Given the description of an element on the screen output the (x, y) to click on. 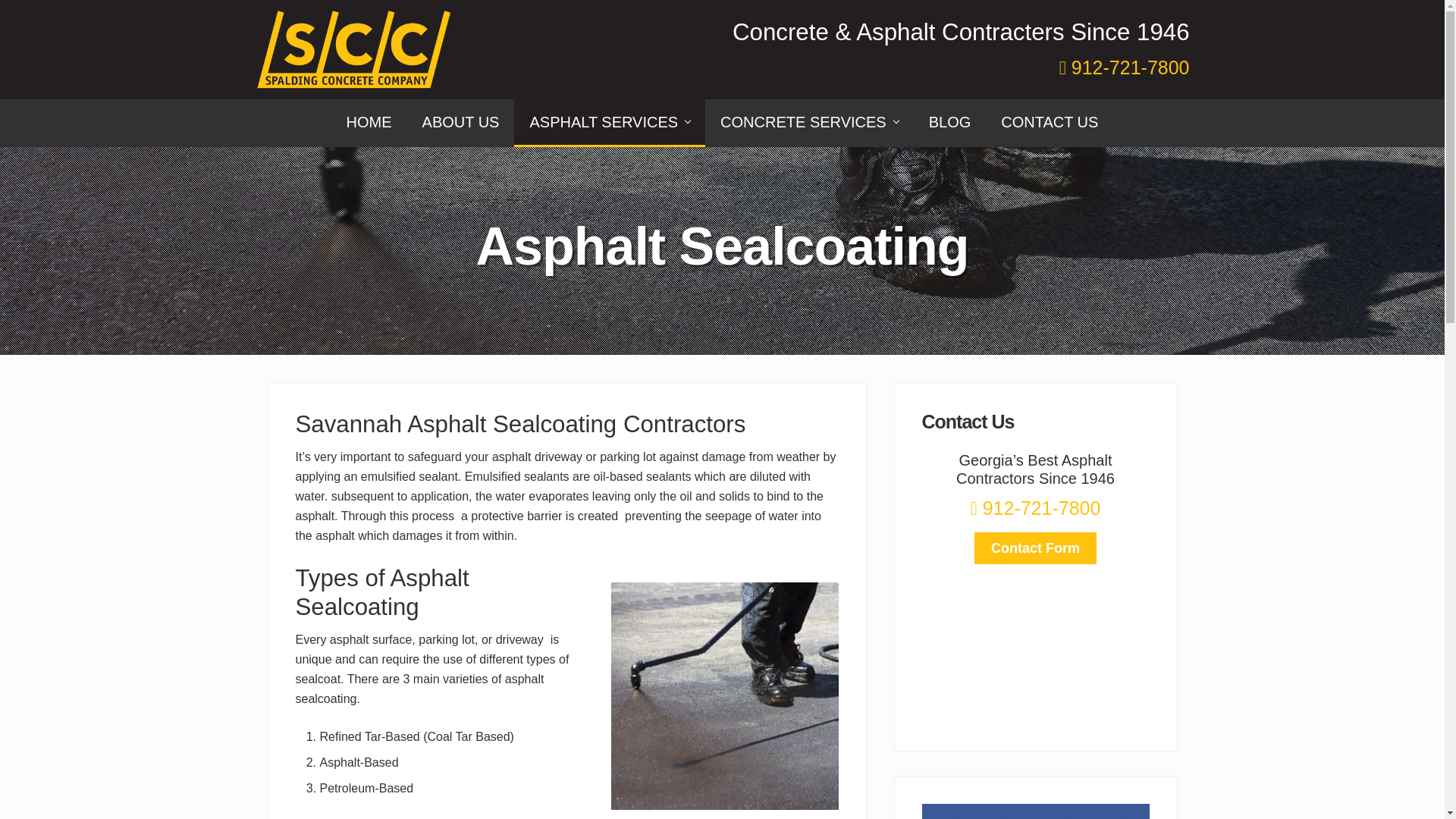
ABOUT US (461, 123)
ASPHALT SERVICES (608, 123)
912-721-7800 (1124, 66)
HOME (369, 123)
Call Now (1124, 66)
Call Now (1035, 507)
